Given the description of an element on the screen output the (x, y) to click on. 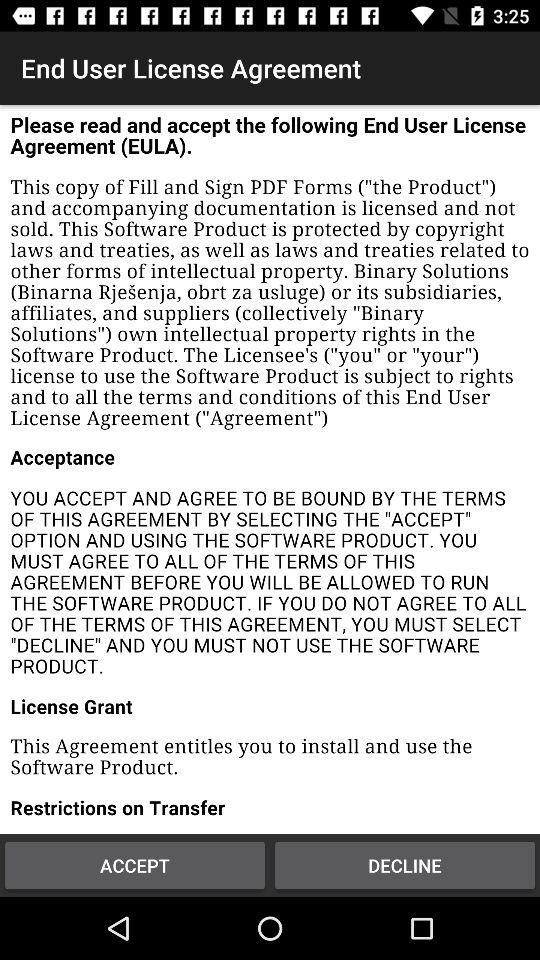
advertisement (270, 469)
